Given the description of an element on the screen output the (x, y) to click on. 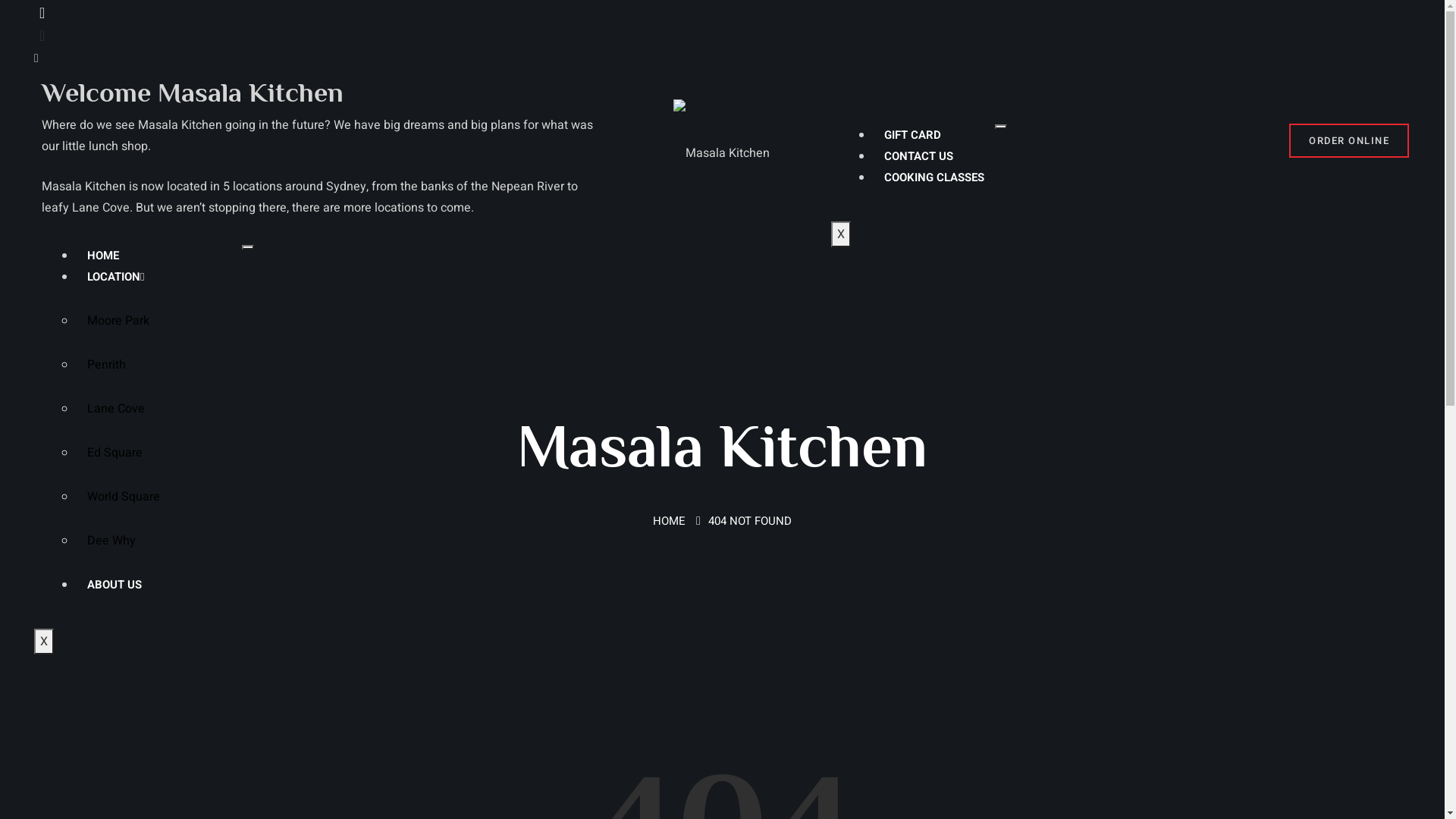
ABOUT US Element type: text (114, 584)
Ed Square Element type: text (158, 452)
ORDER ONLINE Element type: text (1348, 139)
X Element type: text (43, 641)
X Element type: text (840, 234)
Moore Park Element type: text (158, 320)
HOME Element type: text (668, 520)
CONTACT US Element type: text (918, 155)
Dee Why Element type: text (158, 540)
GIFT CARD Element type: text (912, 134)
World Square Element type: text (158, 496)
LOCATION Element type: text (115, 276)
HOME Element type: text (102, 255)
Penrith Element type: text (158, 364)
COOKING CLASSES Element type: text (933, 177)
Lane Cove Element type: text (158, 408)
